Given the description of an element on the screen output the (x, y) to click on. 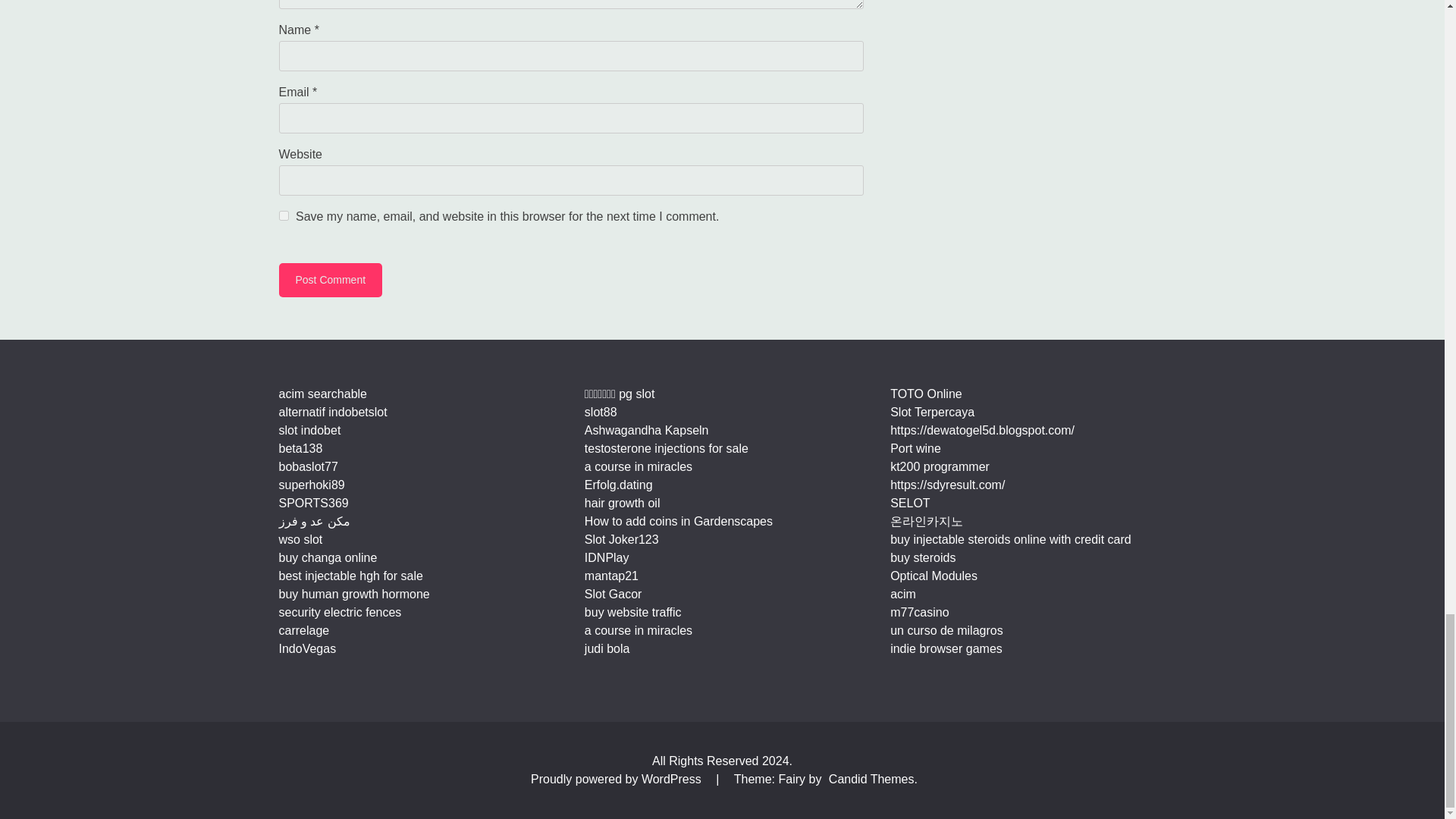
yes (283, 215)
Post Comment (330, 279)
Post Comment (330, 279)
